Given the description of an element on the screen output the (x, y) to click on. 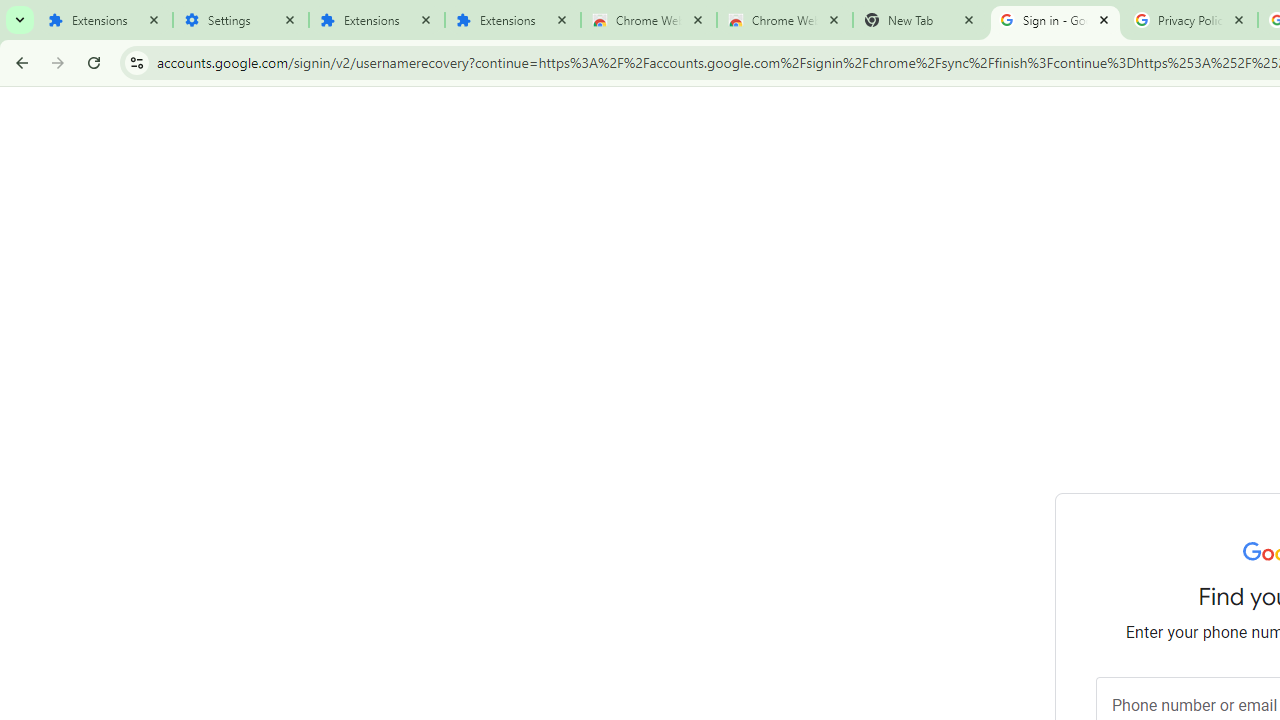
Extensions (376, 20)
Extensions (513, 20)
Settings (240, 20)
Extensions (104, 20)
Chrome Web Store - Themes (784, 20)
Chrome Web Store (648, 20)
New Tab (920, 20)
